Given the description of an element on the screen output the (x, y) to click on. 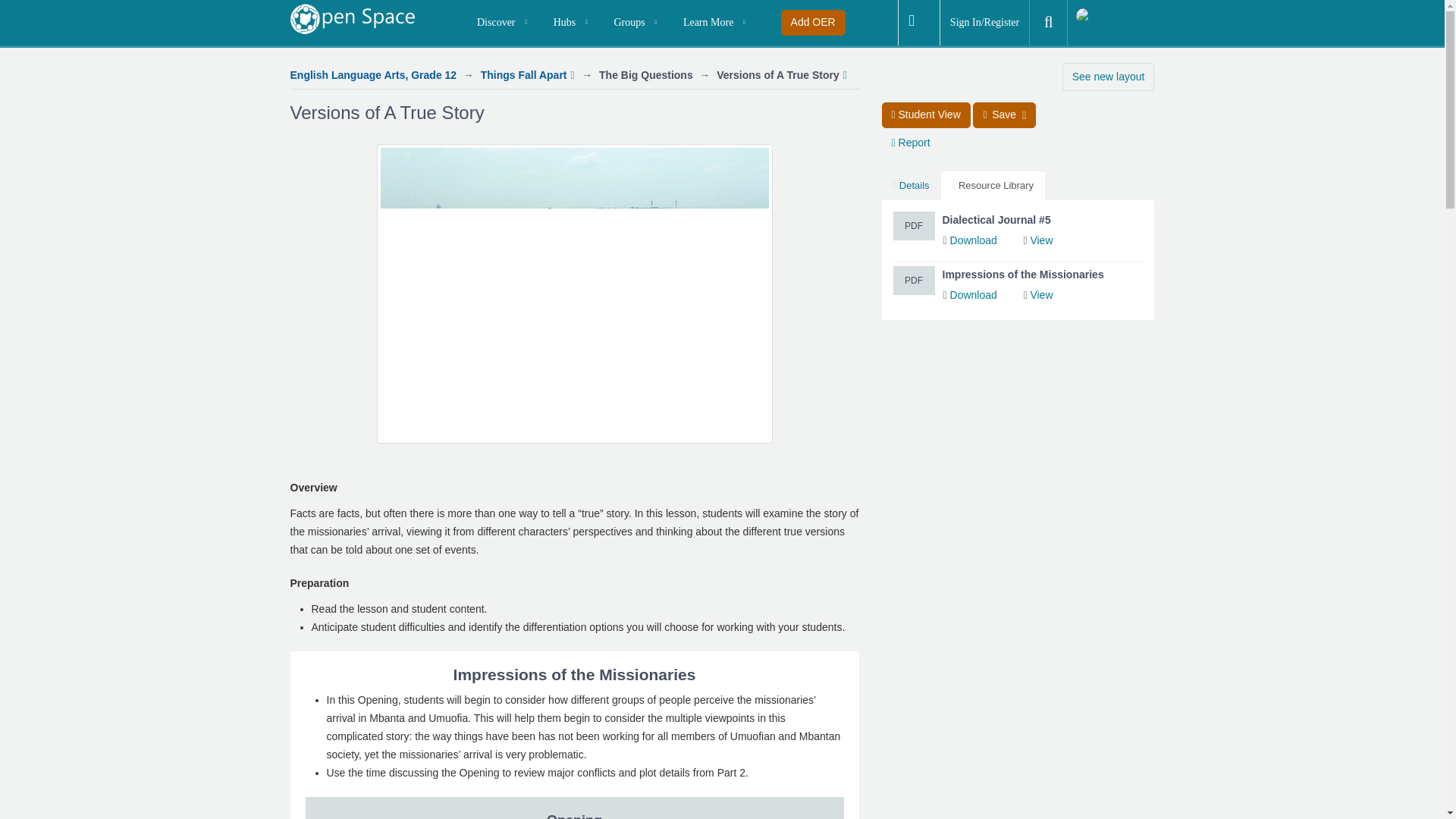
Groups (638, 22)
Hubs (573, 22)
Learn More (716, 22)
Add OER (812, 22)
See new layout (1108, 76)
Discover (505, 22)
Show add OER options (812, 22)
